Given the description of an element on the screen output the (x, y) to click on. 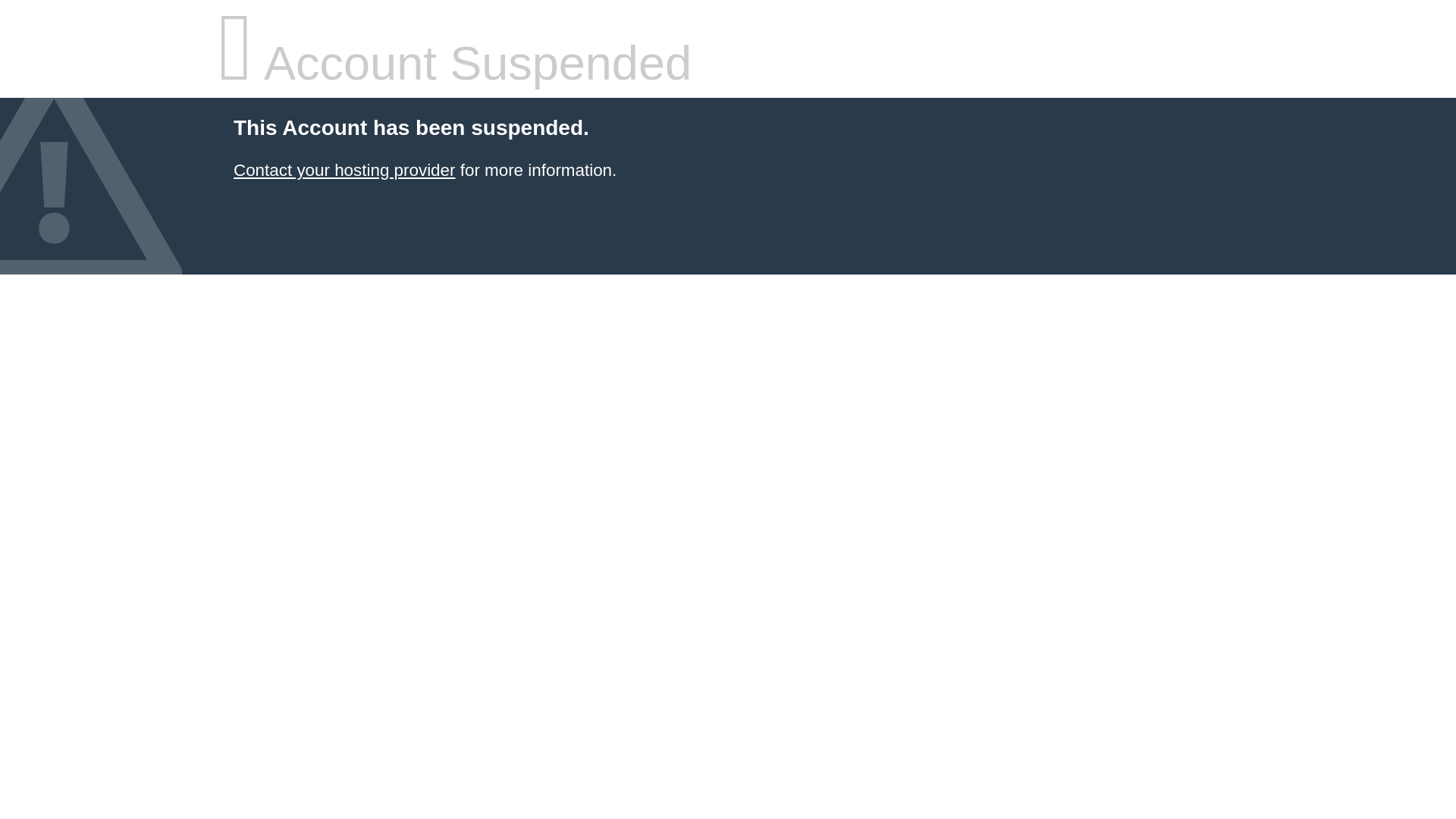
Contact your hosting provider (343, 169)
